Given the description of an element on the screen output the (x, y) to click on. 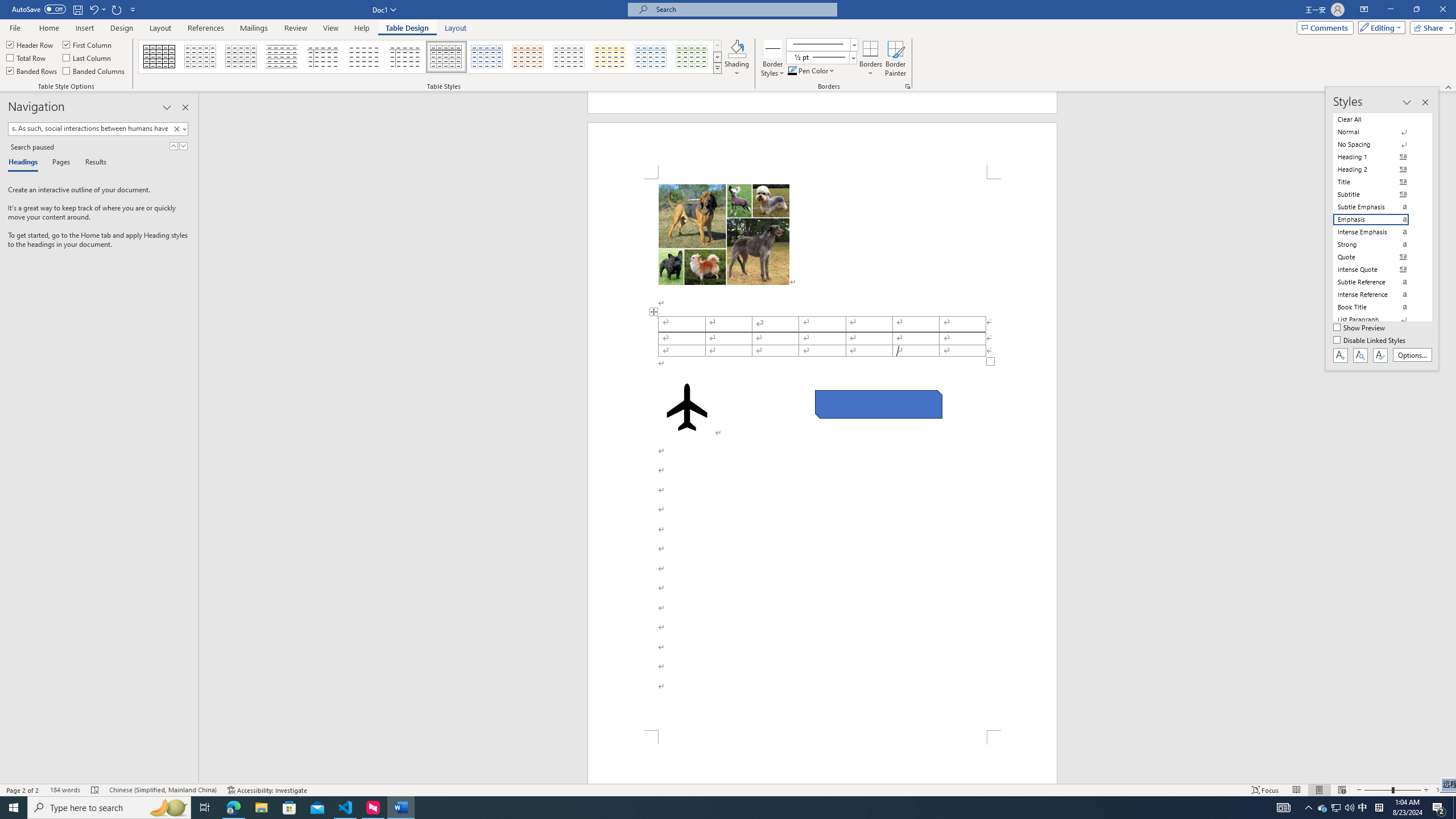
Table Styles (717, 67)
Subtle Emphasis (1377, 206)
Plain Table 4 (363, 56)
Morphological variation in six dogs (723, 234)
Airplane with solid fill (686, 406)
Grid Table 1 Light - Accent 1 (487, 56)
Border Styles (773, 58)
Options... (1412, 354)
